Given the description of an element on the screen output the (x, y) to click on. 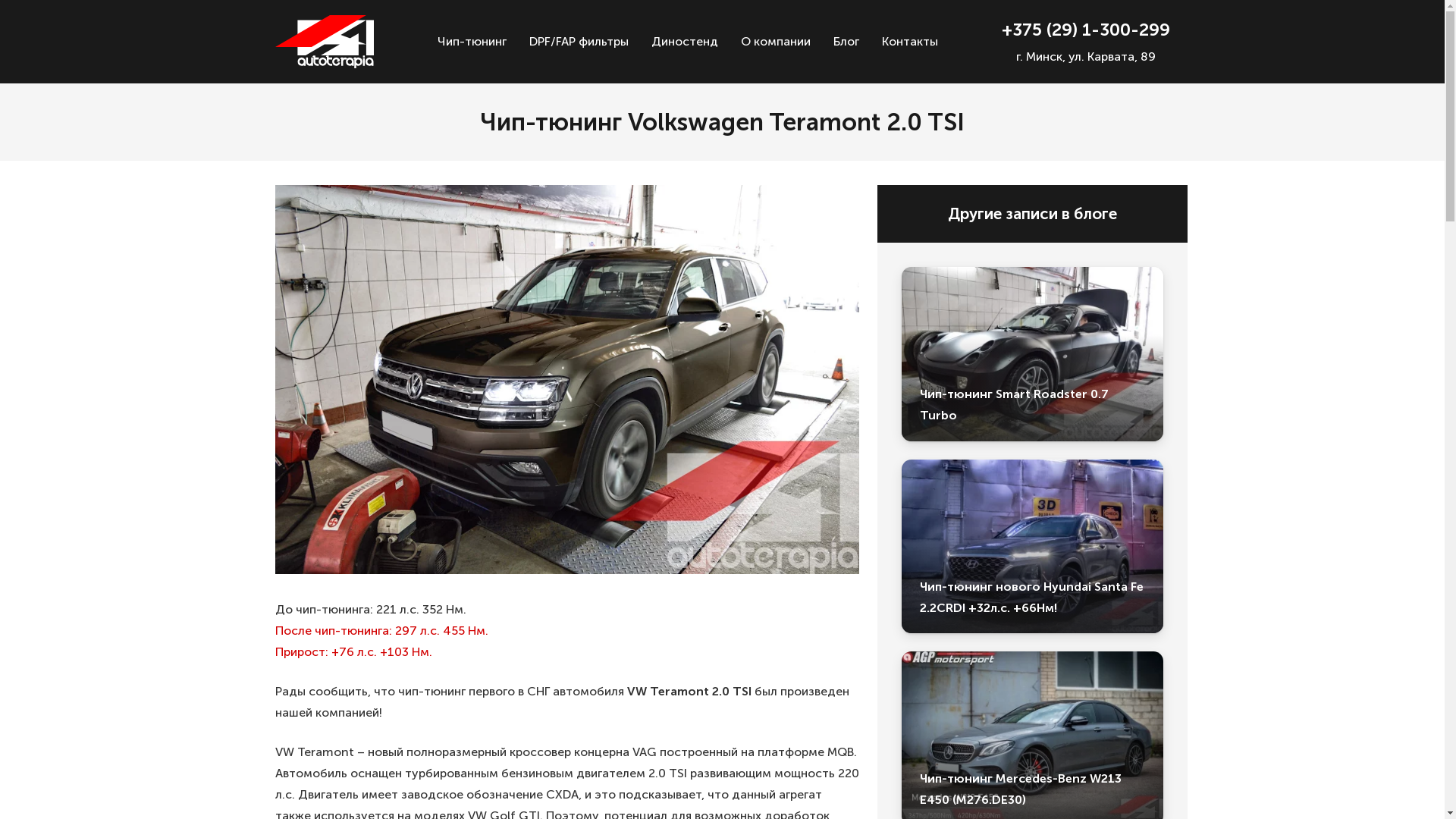
+375 (29) 1-300-299 Element type: text (1085, 29)
